Given the description of an element on the screen output the (x, y) to click on. 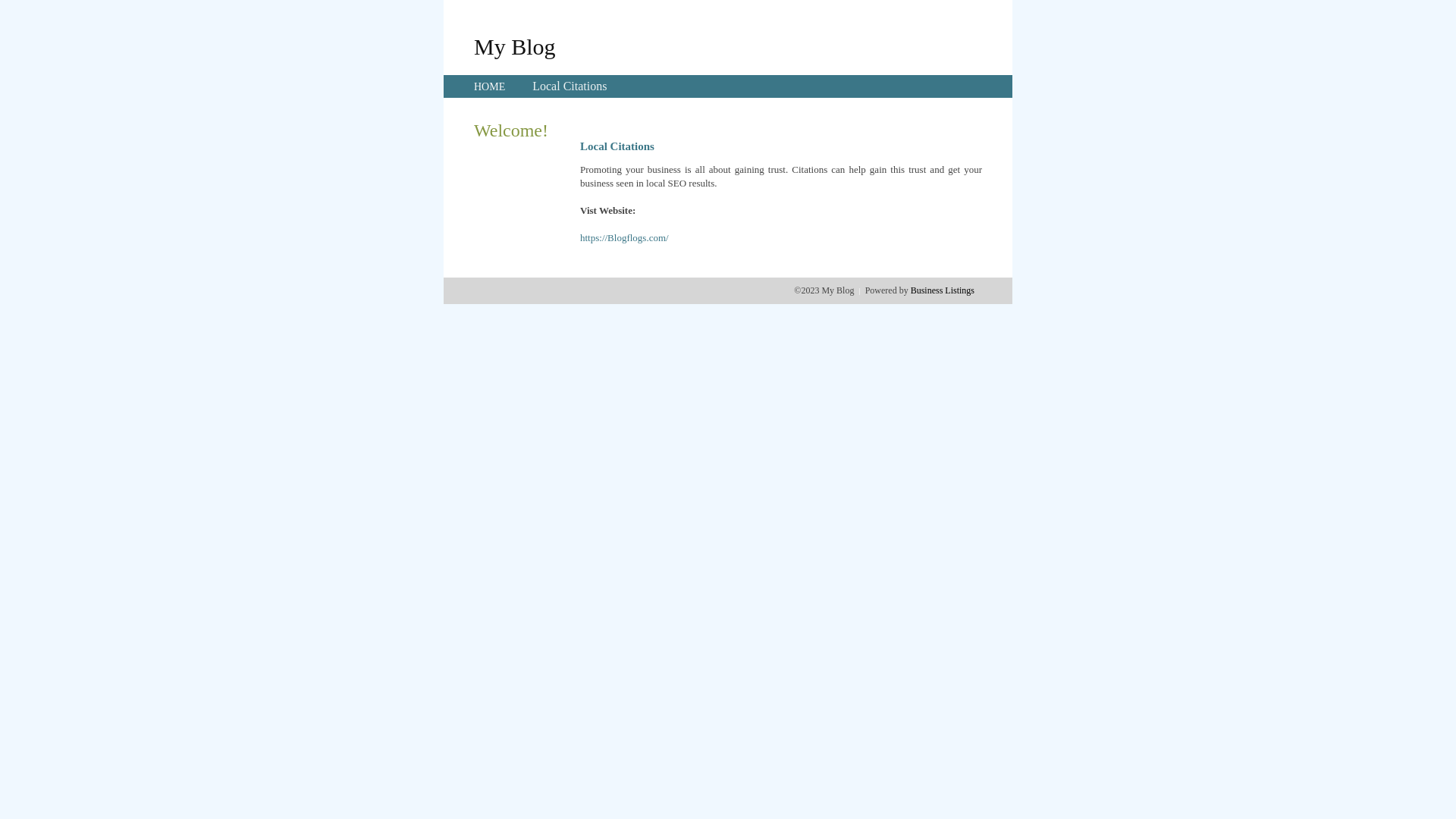
Local Citations Element type: text (569, 85)
Business Listings Element type: text (942, 290)
https://Blogflogs.com/ Element type: text (624, 237)
My Blog Element type: text (514, 46)
HOME Element type: text (489, 86)
